Given the description of an element on the screen output the (x, y) to click on. 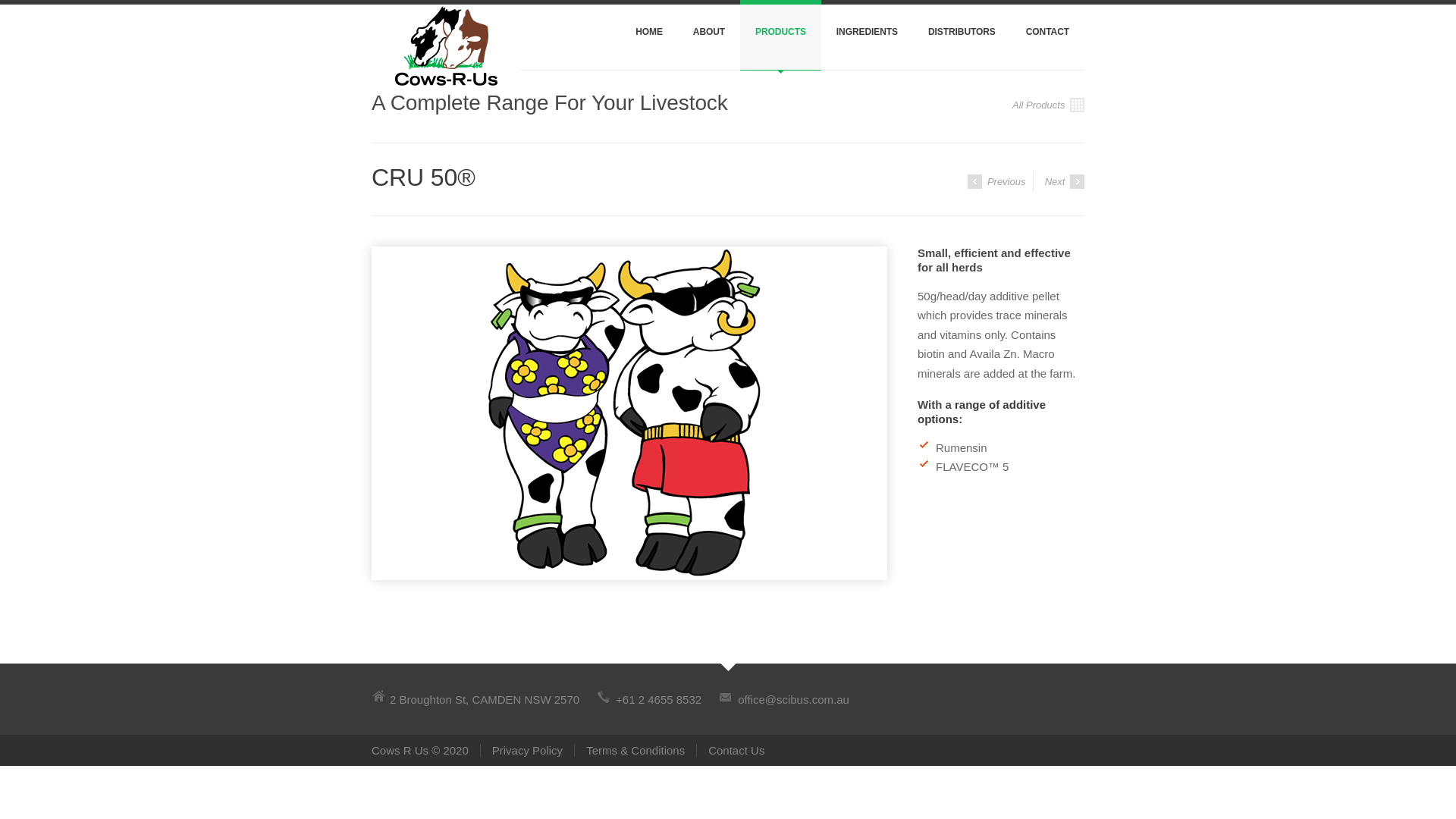
CRU-50-L Element type: hover (629, 413)
INGREDIENTS Element type: text (867, 35)
All Products Element type: text (1048, 105)
HOME Element type: text (648, 35)
Cows R Us Element type: hover (445, 36)
PRODUCTS Element type: text (780, 35)
Privacy Policy Element type: text (527, 749)
ABOUT Element type: text (708, 35)
range of additive options Element type: text (981, 411)
Contact Us Element type: text (730, 749)
DISTRIBUTORS Element type: text (961, 35)
CONTACT Element type: text (1047, 35)
Terms & Conditions Element type: text (635, 749)
office@scibus.com.au Element type: text (793, 699)
